Given the description of an element on the screen output the (x, y) to click on. 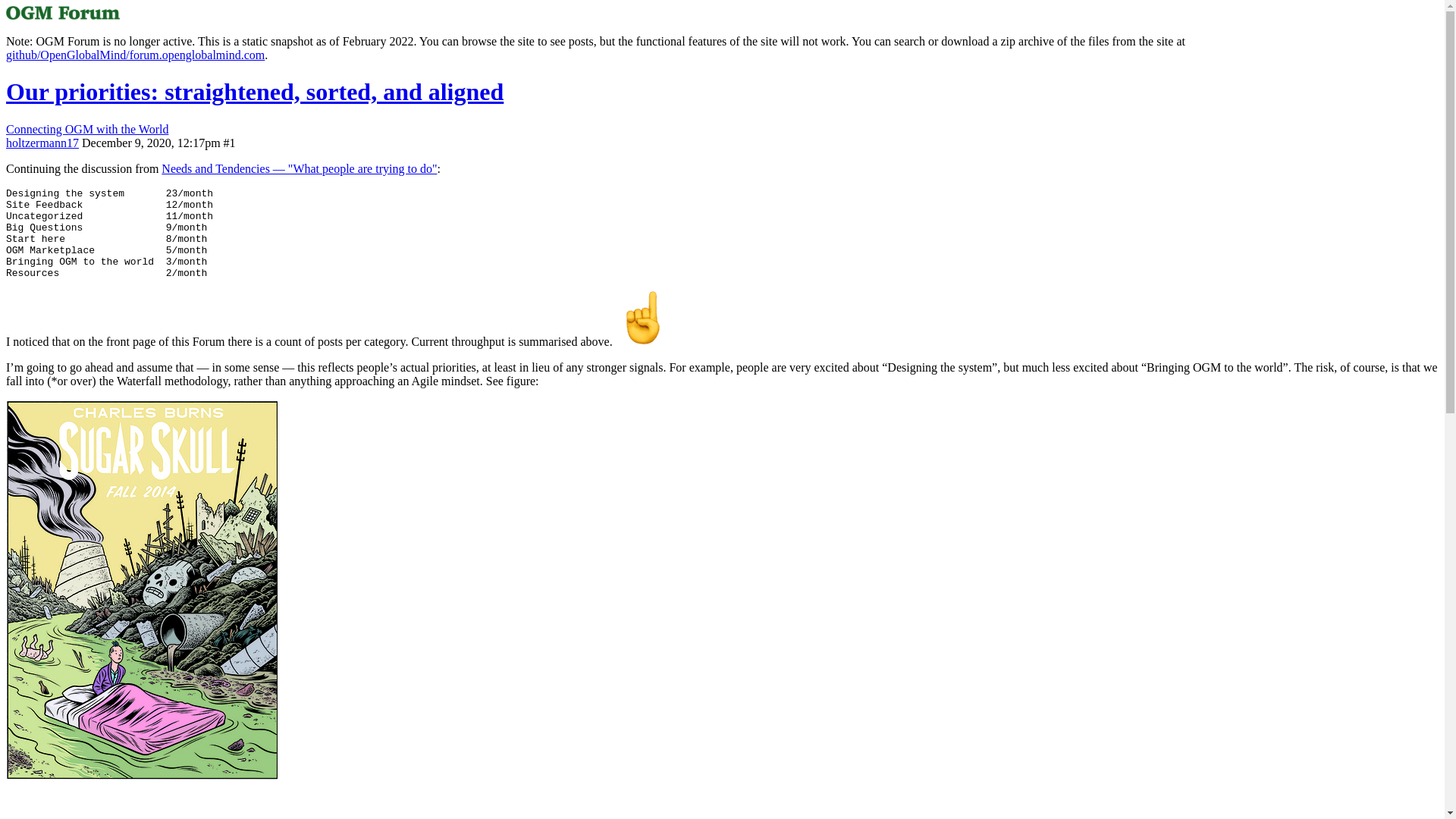
Connecting OGM with the World (86, 128)
Our priorities: straightened, sorted, and aligned (254, 91)
holtzermann17 (41, 142)
